Given the description of an element on the screen output the (x, y) to click on. 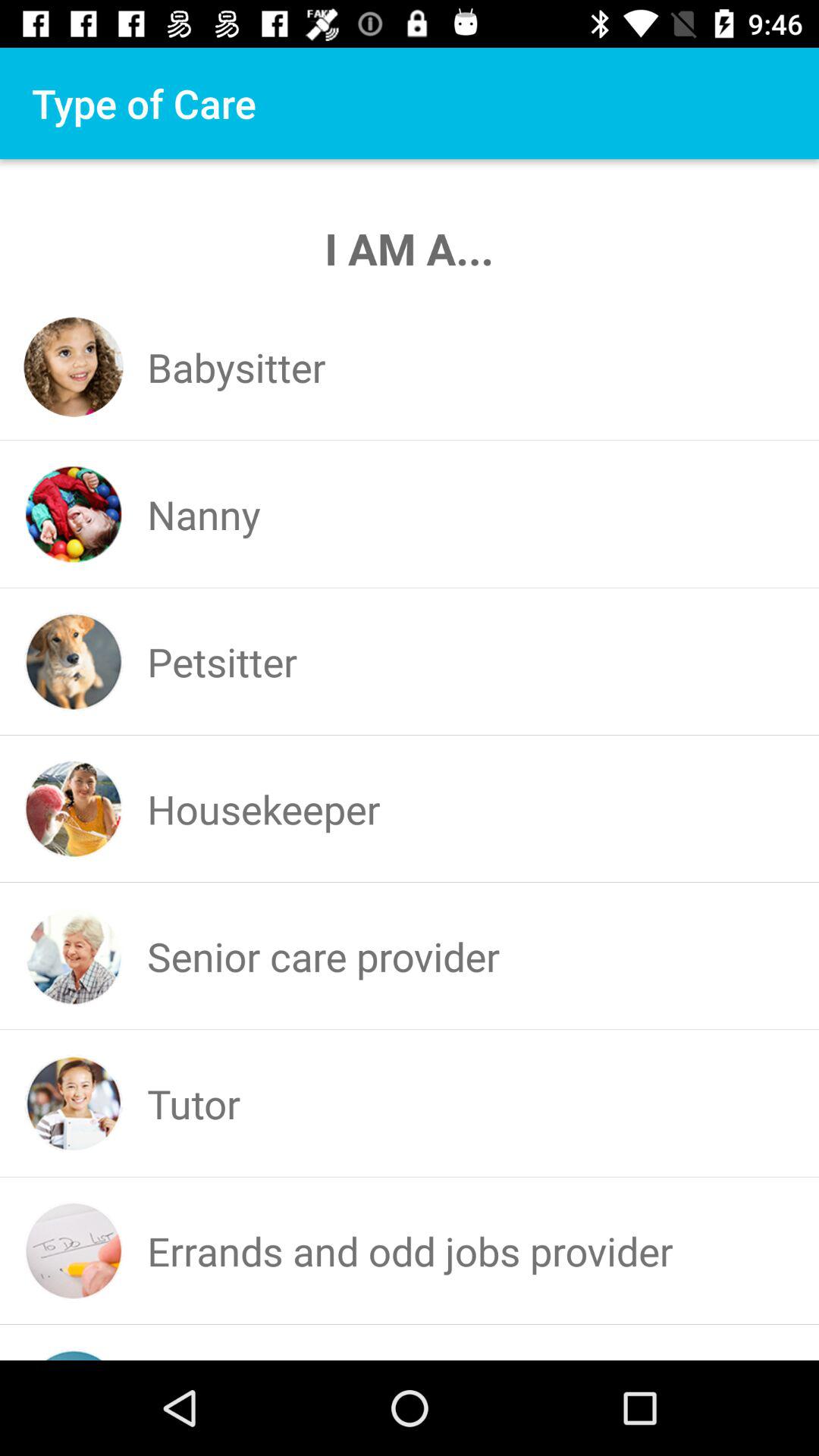
open senior care provider at the center (323, 955)
